Given the description of an element on the screen output the (x, y) to click on. 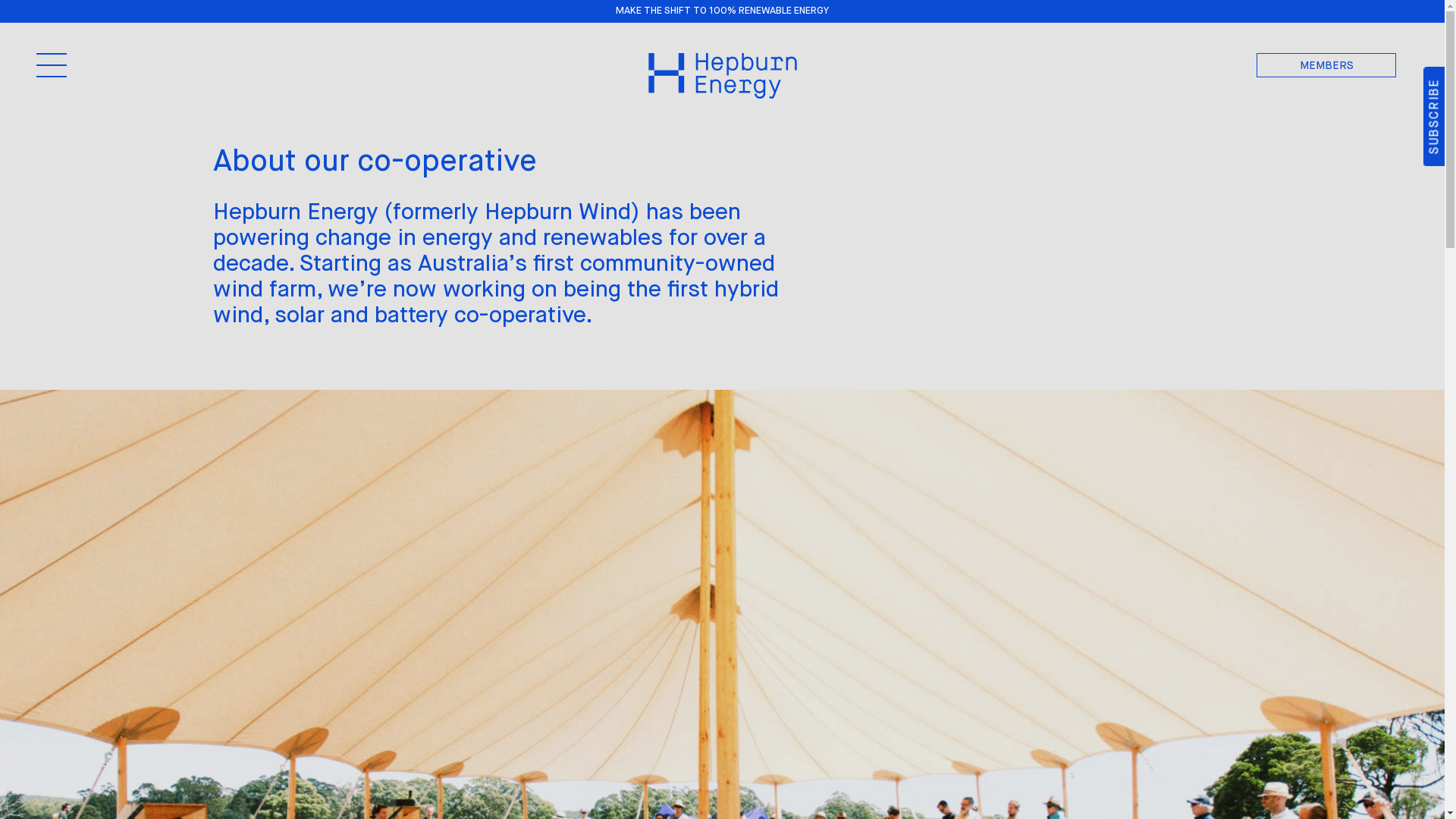
Hepburn Energy Element type: text (721, 75)
MEMBERS Element type: text (1326, 65)
